Given the description of an element on the screen output the (x, y) to click on. 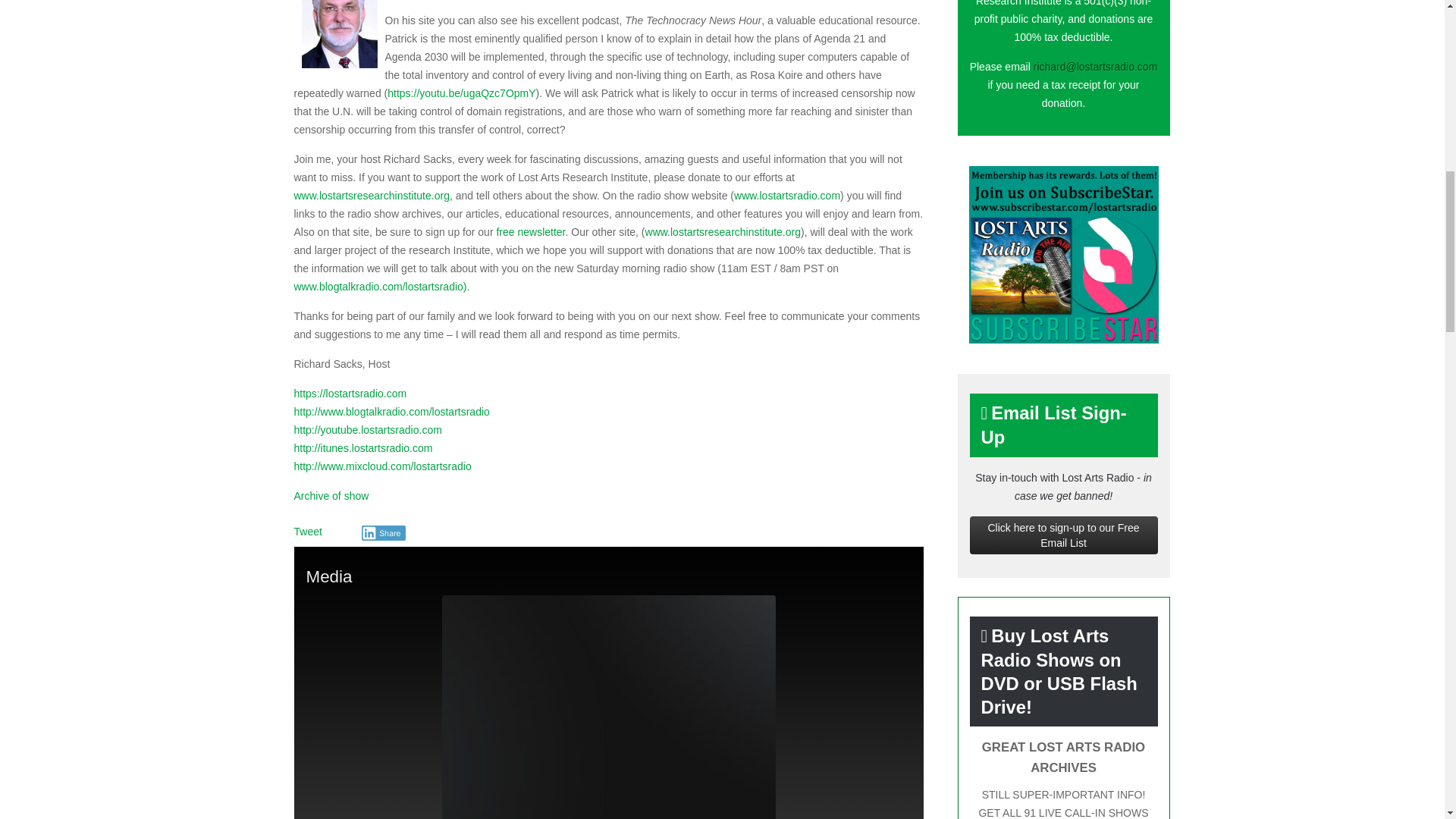
Patrick Wood (339, 33)
SubscribeStar - LostArtsRadio (1063, 254)
JoomlaWorks AllVideos Player (608, 713)
